Given the description of an element on the screen output the (x, y) to click on. 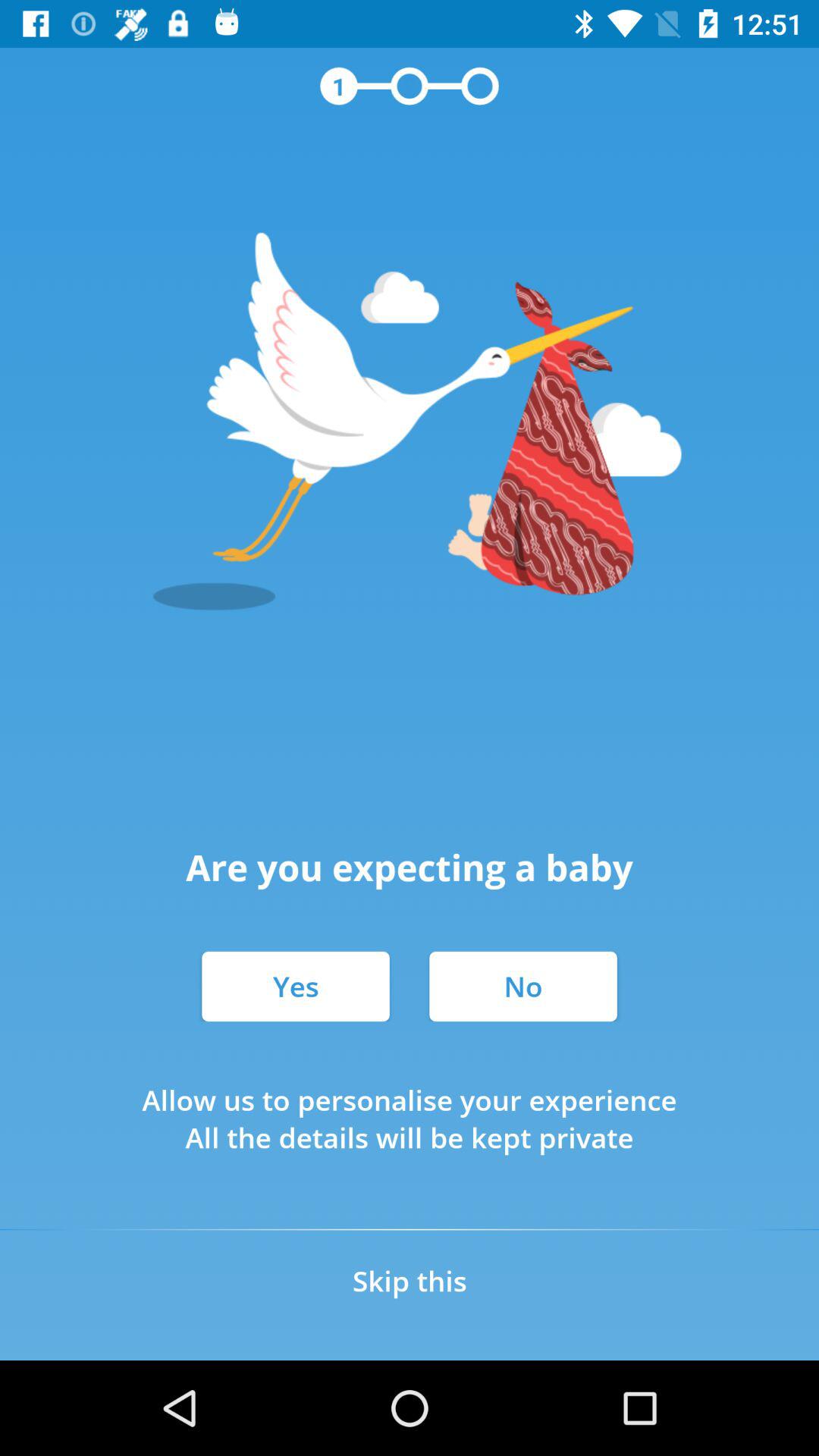
choose the icon above the allow us to item (295, 986)
